Given the description of an element on the screen output the (x, y) to click on. 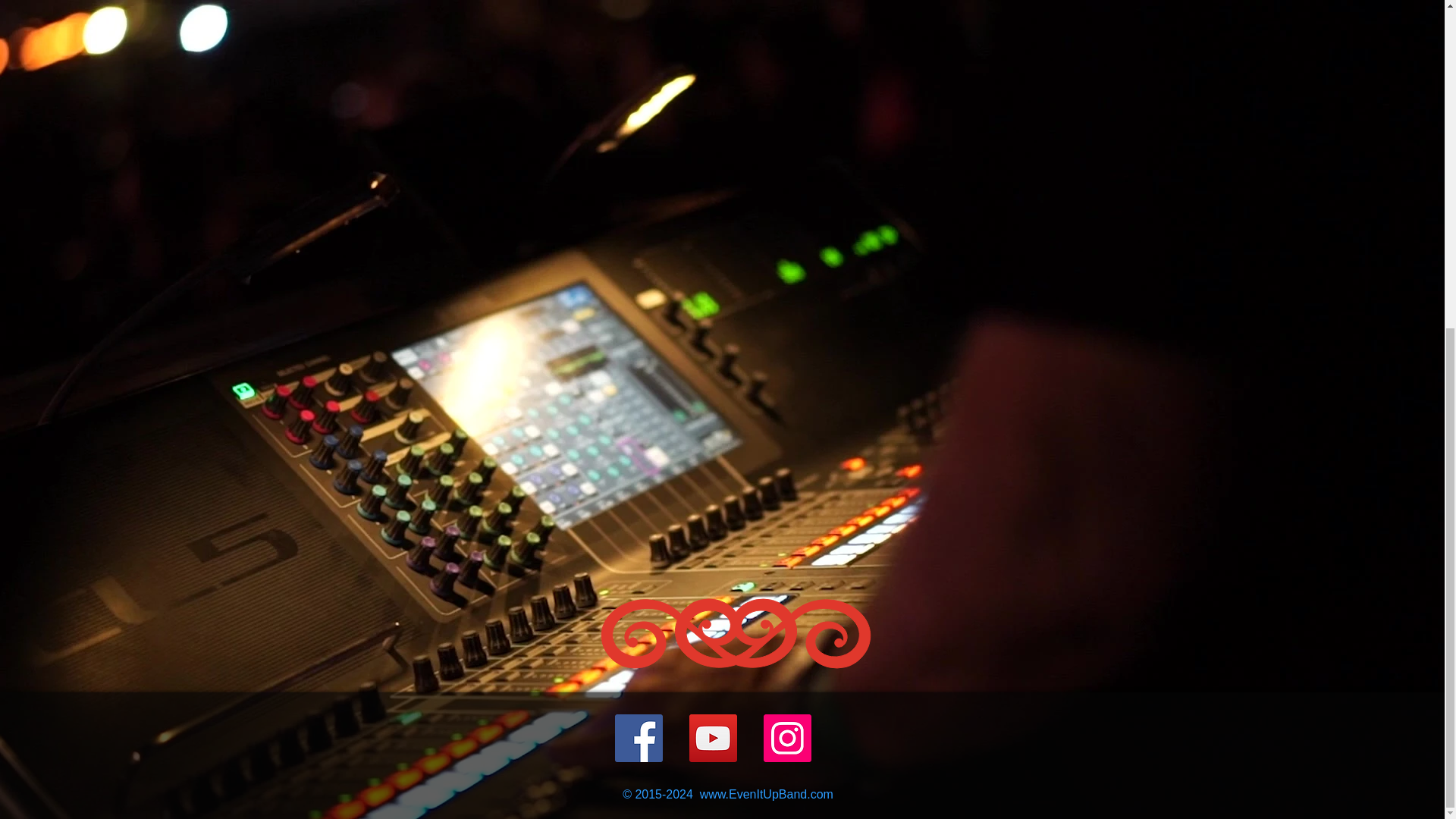
www.EvenItUpBand.com (766, 793)
